Given the description of an element on the screen output the (x, y) to click on. 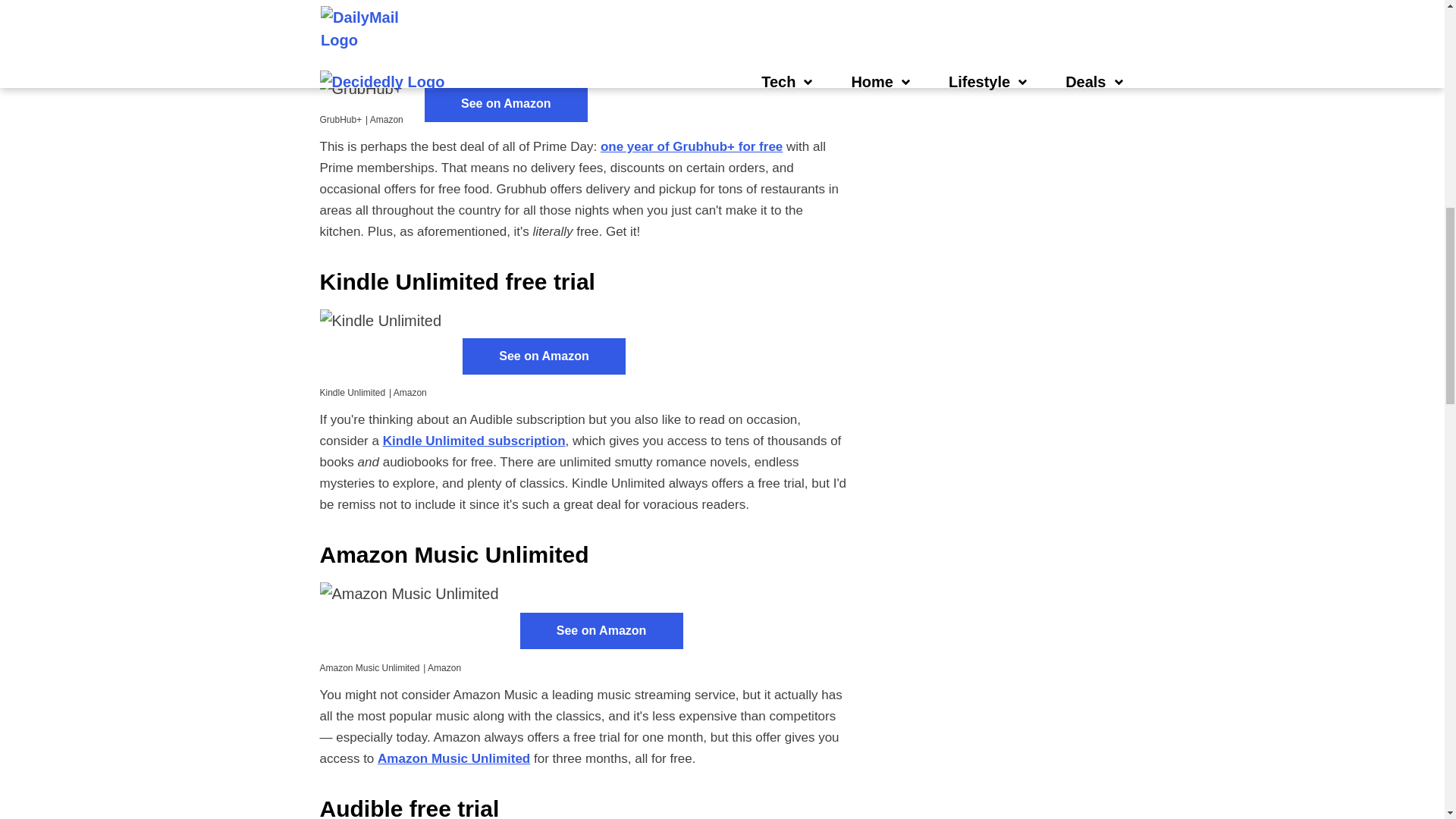
See on Amazon (544, 356)
See on Amazon (506, 103)
Audible free trial (366, 1)
Kindle Unlimited free trial (457, 281)
